Given the description of an element on the screen output the (x, y) to click on. 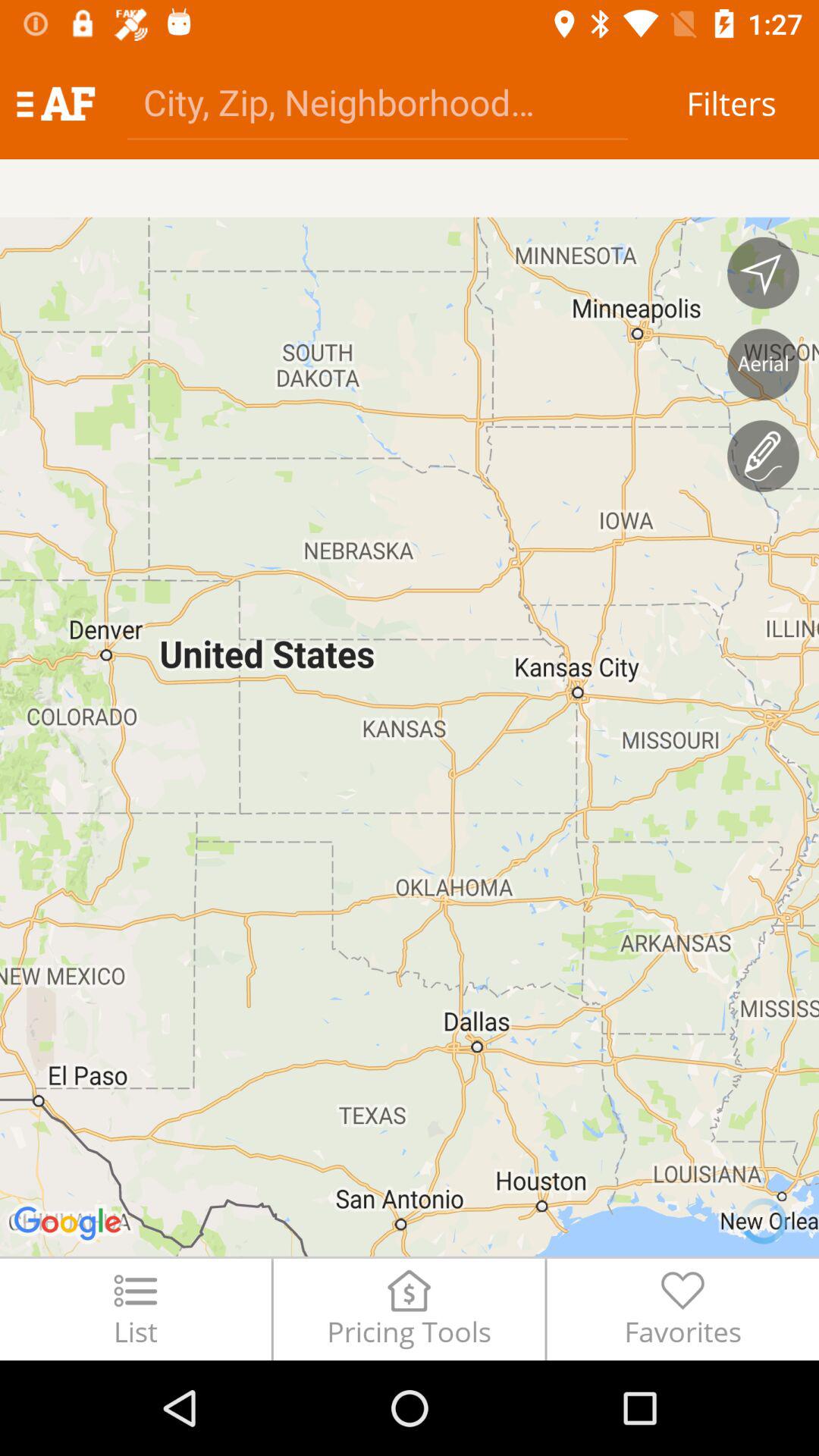
select aerial view of the map (763, 364)
